Given the description of an element on the screen output the (x, y) to click on. 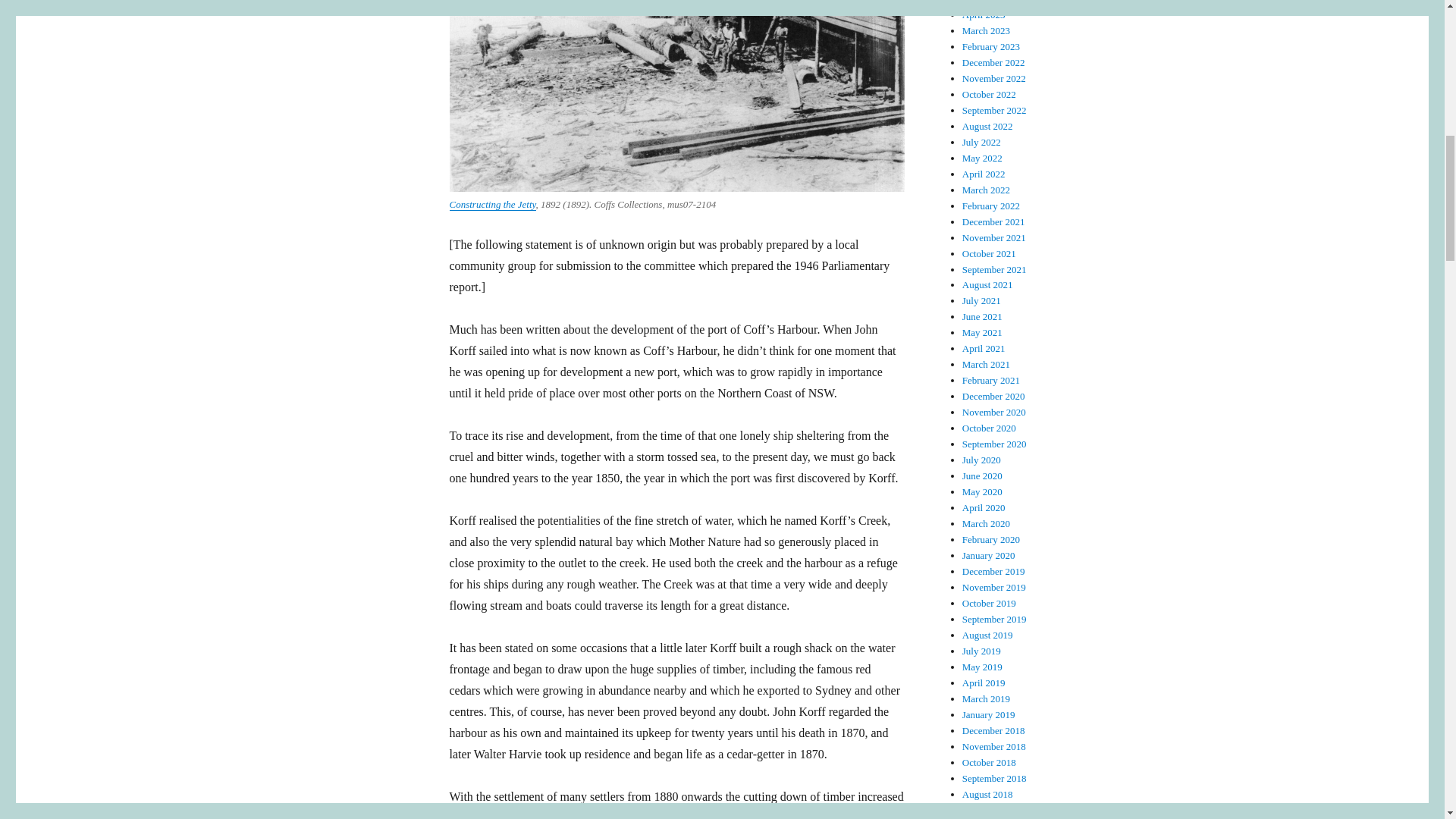
July 2022 (981, 142)
February 2022 (991, 205)
May 2023 (982, 2)
February 2023 (991, 46)
November 2022 (994, 78)
April 2022 (984, 173)
May 2022 (982, 157)
September 2022 (994, 110)
July 2021 (981, 300)
November 2021 (994, 237)
September 2021 (994, 269)
December 2021 (993, 221)
August 2021 (987, 284)
August 2022 (987, 125)
Constructing the Jetty (491, 204)
